Given the description of an element on the screen output the (x, y) to click on. 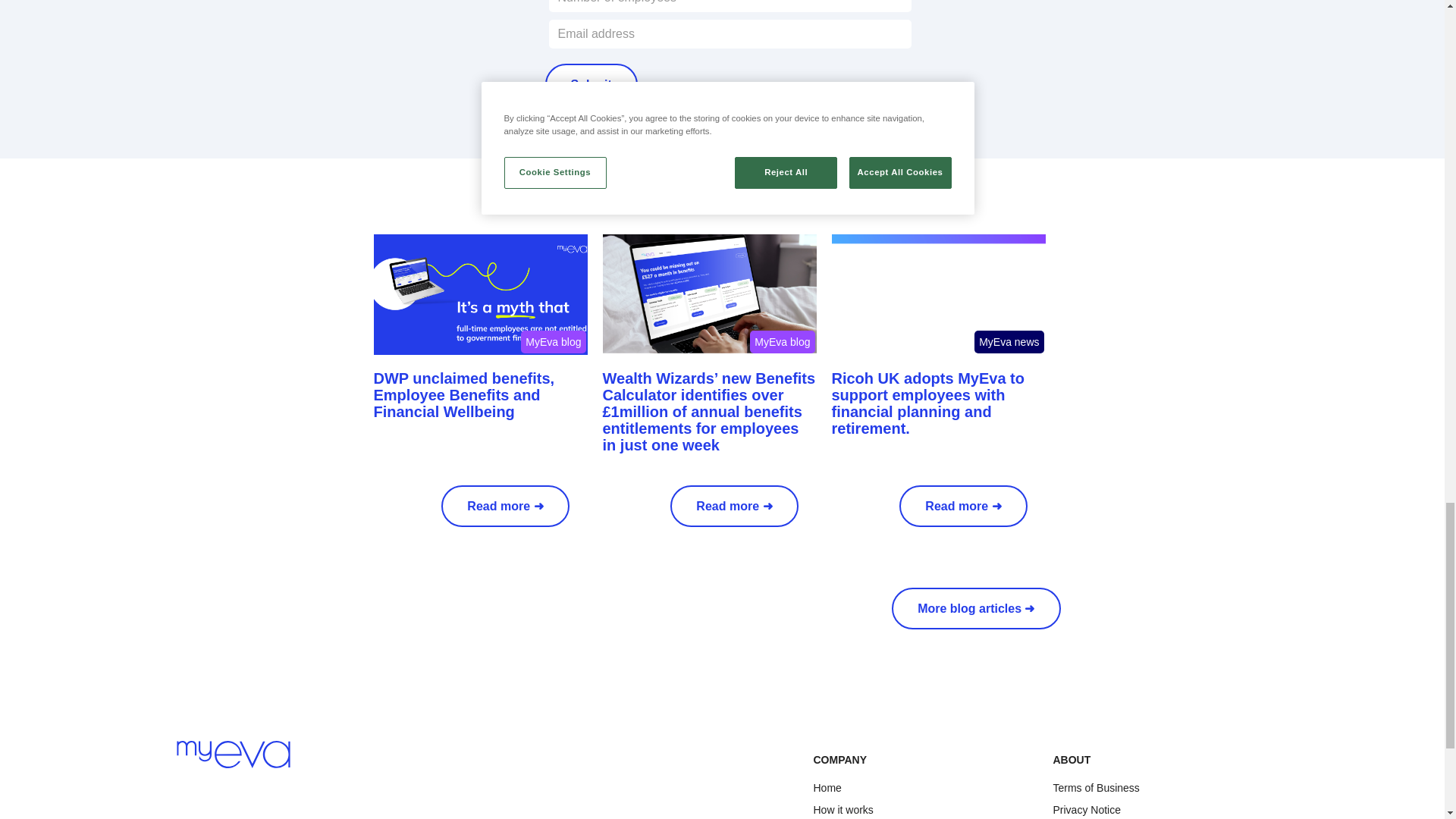
Submit (590, 84)
Terms of Business (1095, 788)
Submit (590, 84)
Privacy Notice (1085, 810)
How it works (842, 810)
Home (826, 788)
